Given the description of an element on the screen output the (x, y) to click on. 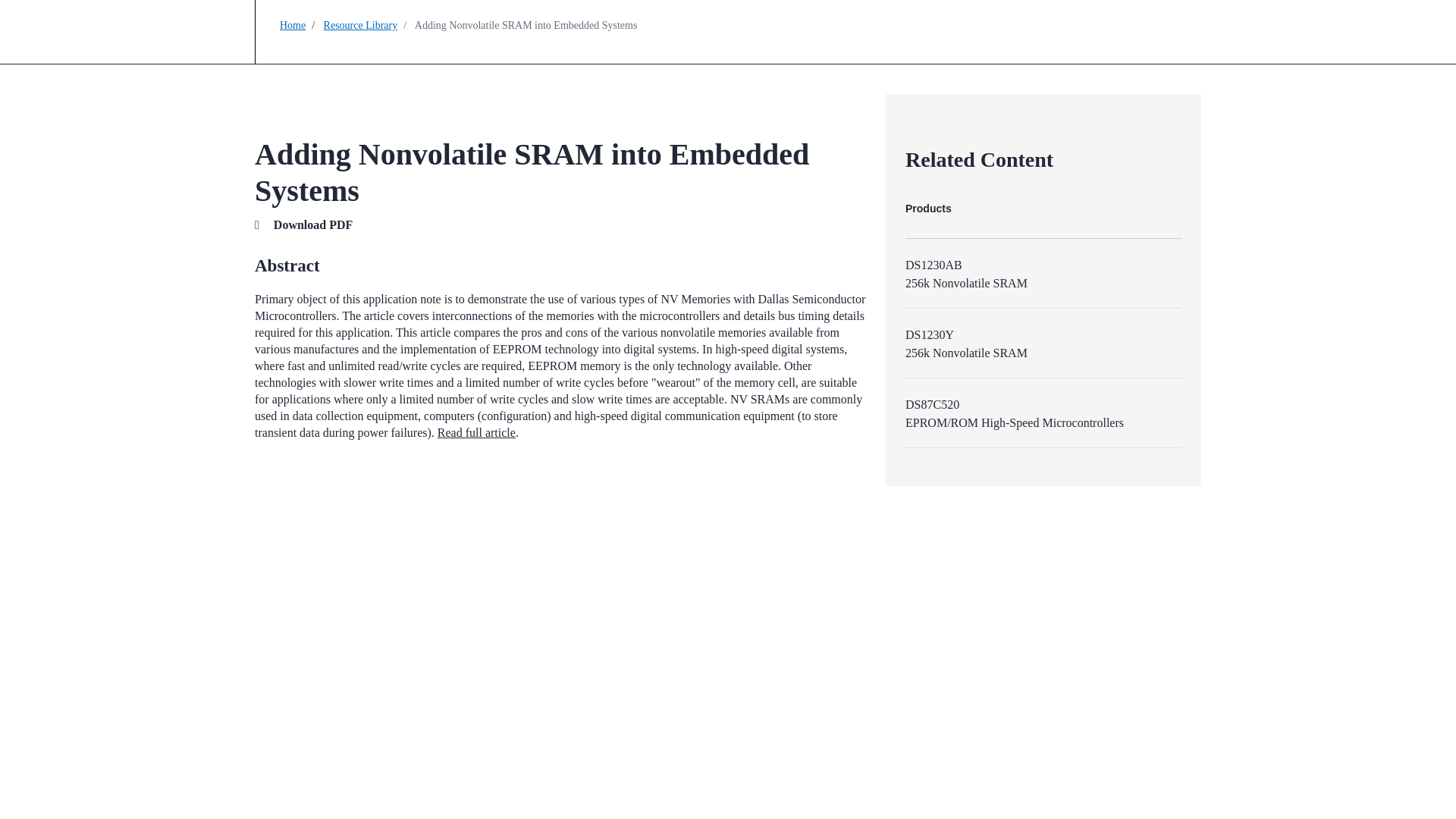
DS87C520 (932, 404)
Read full article (476, 431)
Resource Library (360, 25)
Home (292, 25)
DS1230AB (933, 264)
Download PDF (312, 224)
DS1230Y (929, 334)
